Given the description of an element on the screen output the (x, y) to click on. 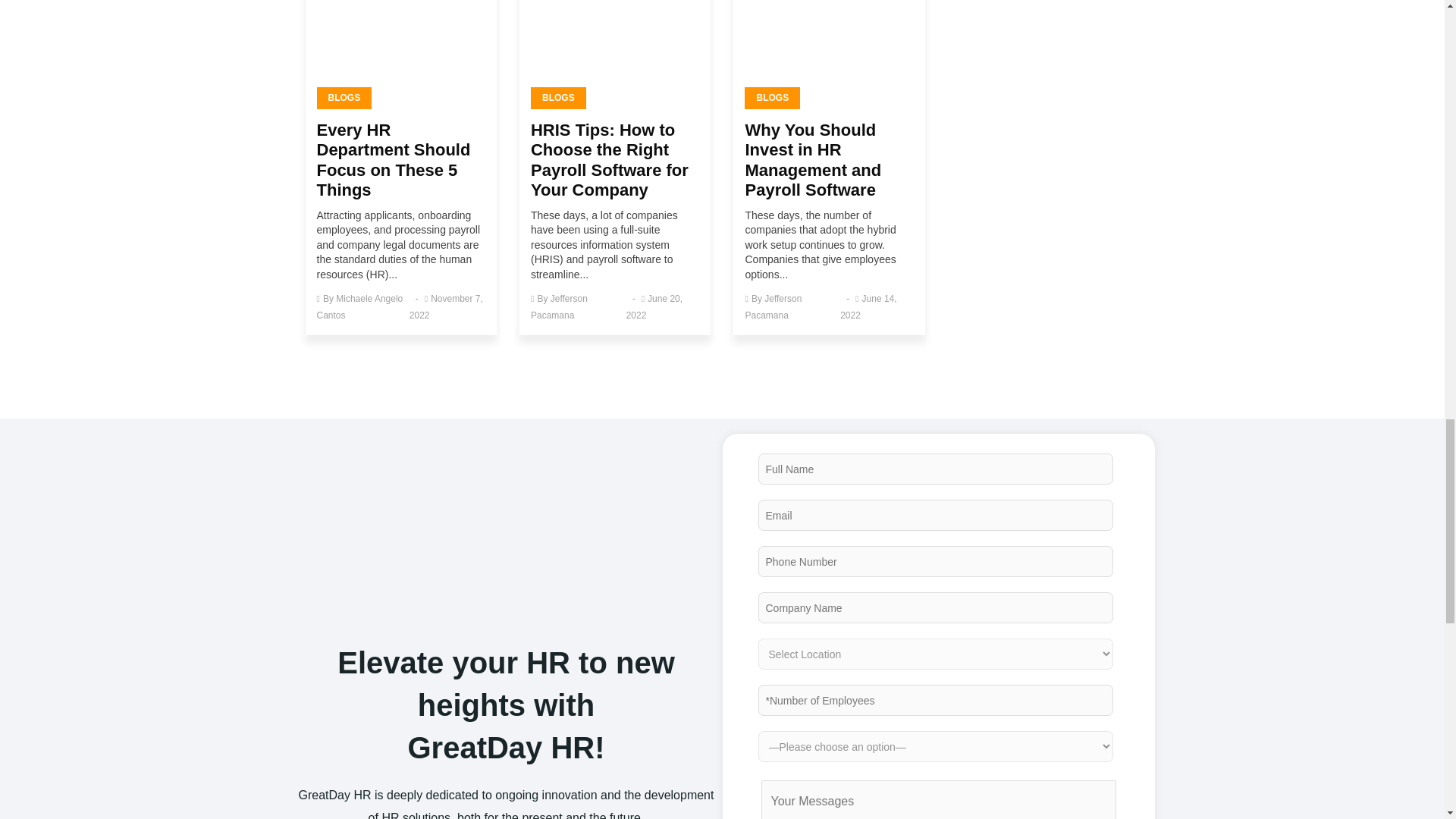
Every HR Department Should Focus on These 5 Things (400, 49)
Why You Should Invest in HR Management and Payroll Software (828, 49)
Every HR Department Should Focus on These 5 Things (393, 159)
